Given the description of an element on the screen output the (x, y) to click on. 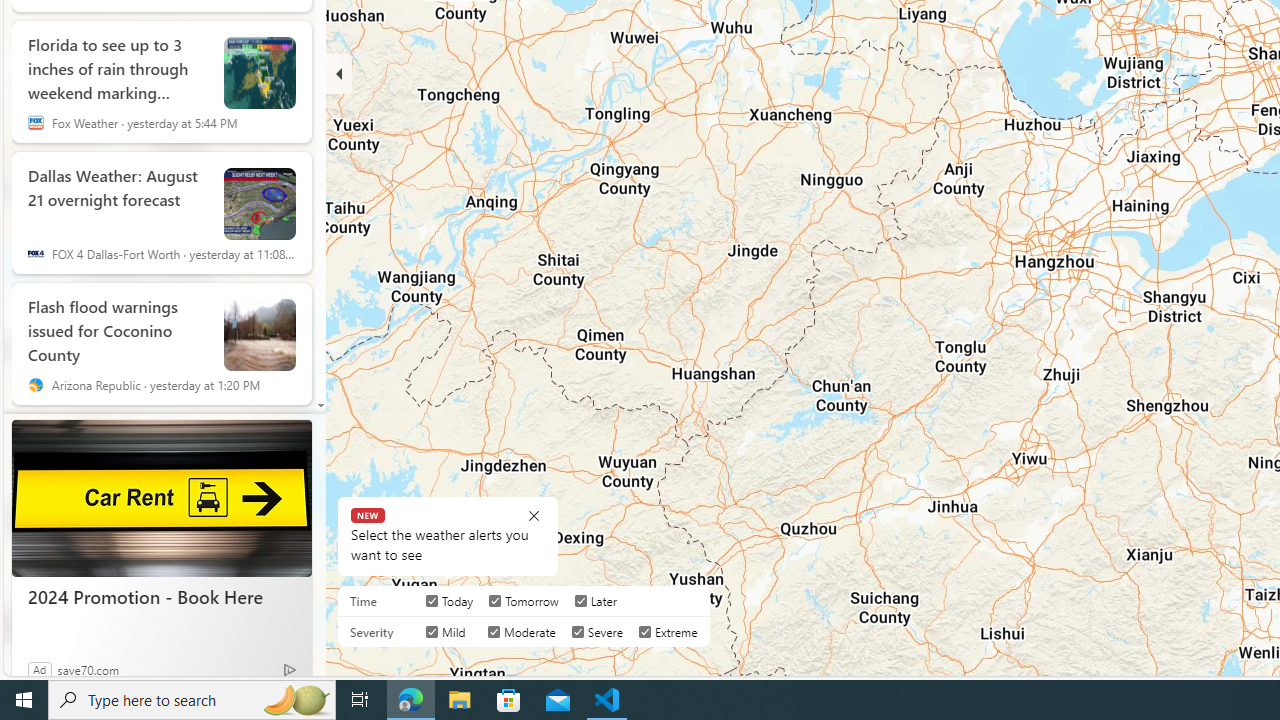
Dallas Weather: August 21 overnight forecast (259, 203)
Hide (339, 73)
save70.com (88, 669)
Flash flood warnings issued for Coconino County (117, 326)
Dallas Weather: August 21 overnight forecast (117, 195)
2024 Promotion - Book Here (161, 596)
2024 Promotion - Book Here (161, 497)
